Given the description of an element on the screen output the (x, y) to click on. 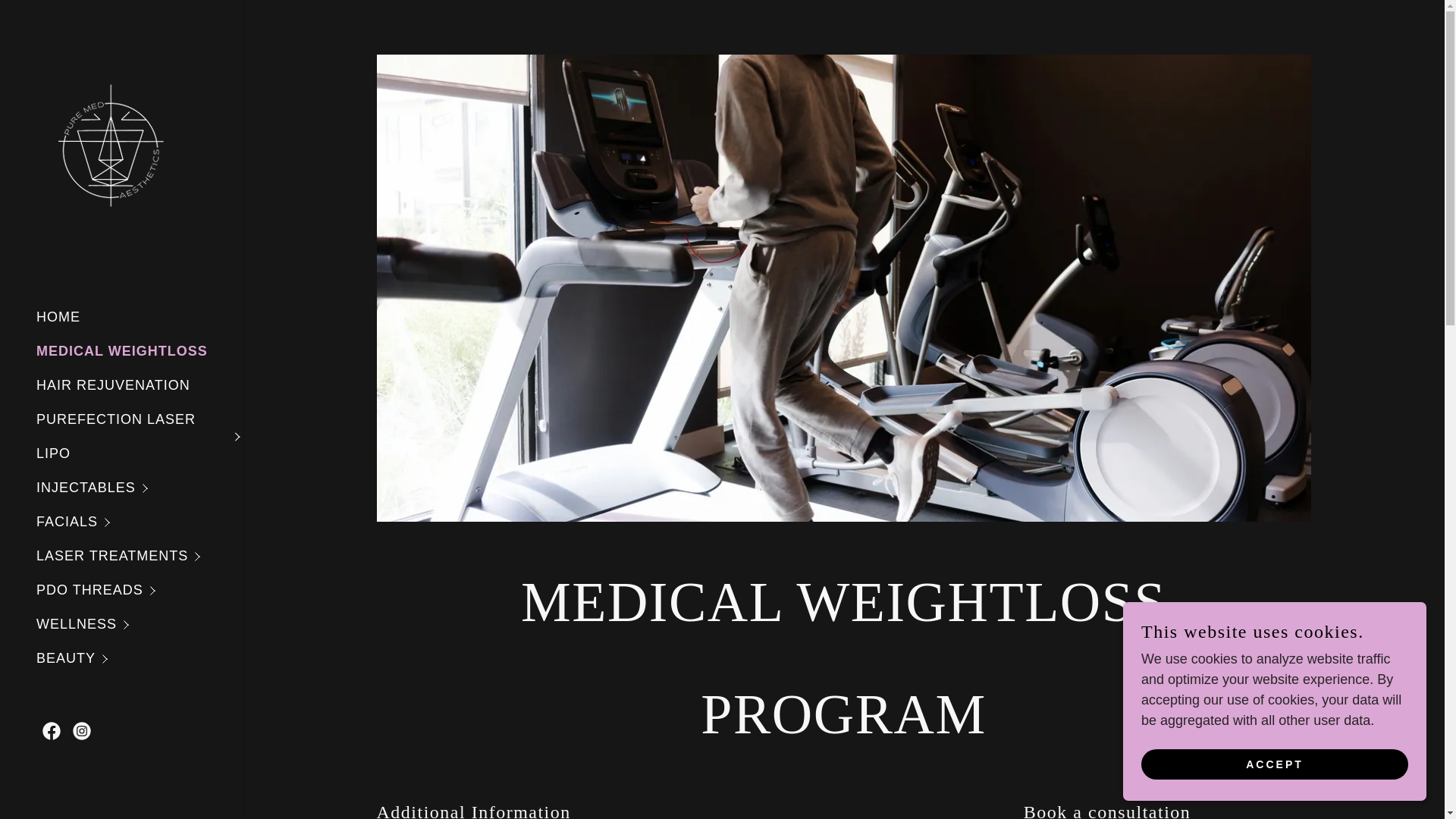
LASER TREATMENTS (139, 555)
HAIR REJUVENATION (113, 385)
BEAUTY (139, 658)
HOME (58, 316)
INJECTABLES (139, 487)
FACIALS (139, 521)
PDO THREADS (139, 590)
PUREFECTION LASER LIPO (139, 436)
PURE MED AESTHETICS (111, 147)
MEDICAL WEIGHTLOSS (122, 350)
WELLNESS (139, 624)
